Given the description of an element on the screen output the (x, y) to click on. 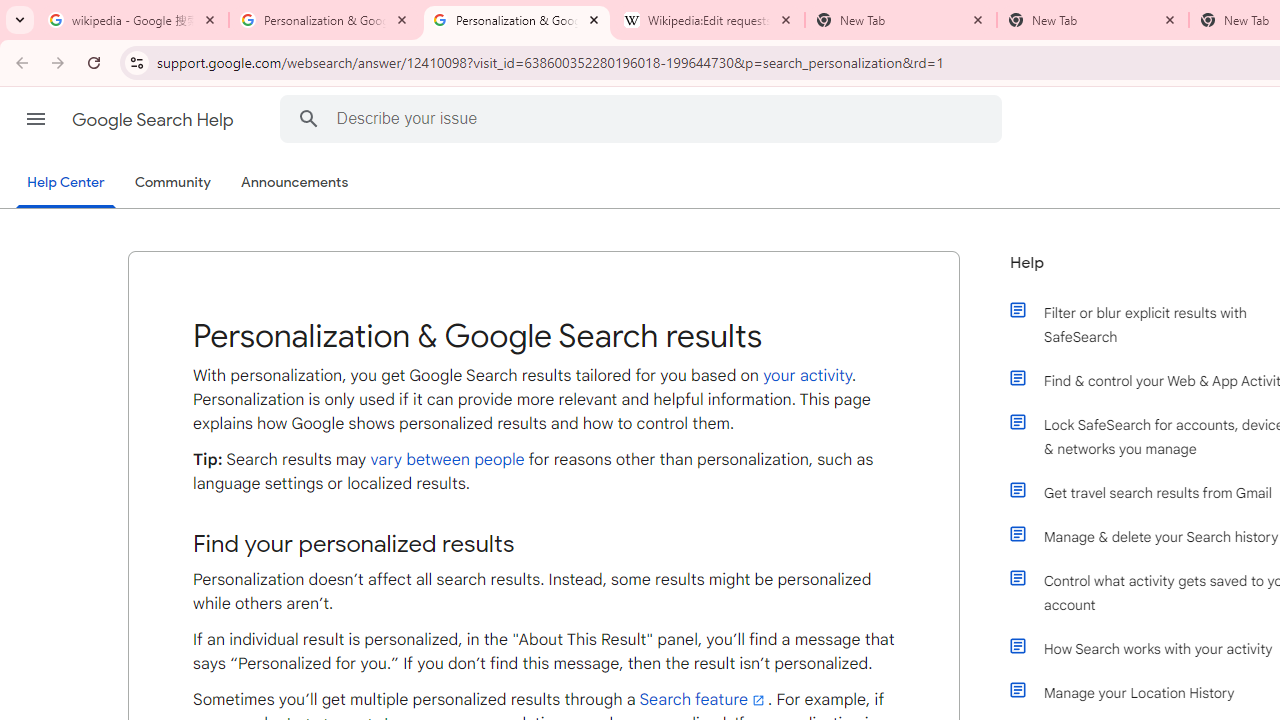
your activity (807, 375)
Personalization & Google Search results - Google Search Help (517, 20)
vary between people (446, 460)
Announcements (294, 183)
Search Help Center (308, 118)
Personalization & Google Search results - Google Search Help (325, 20)
Describe your issue (643, 118)
